Given the description of an element on the screen output the (x, y) to click on. 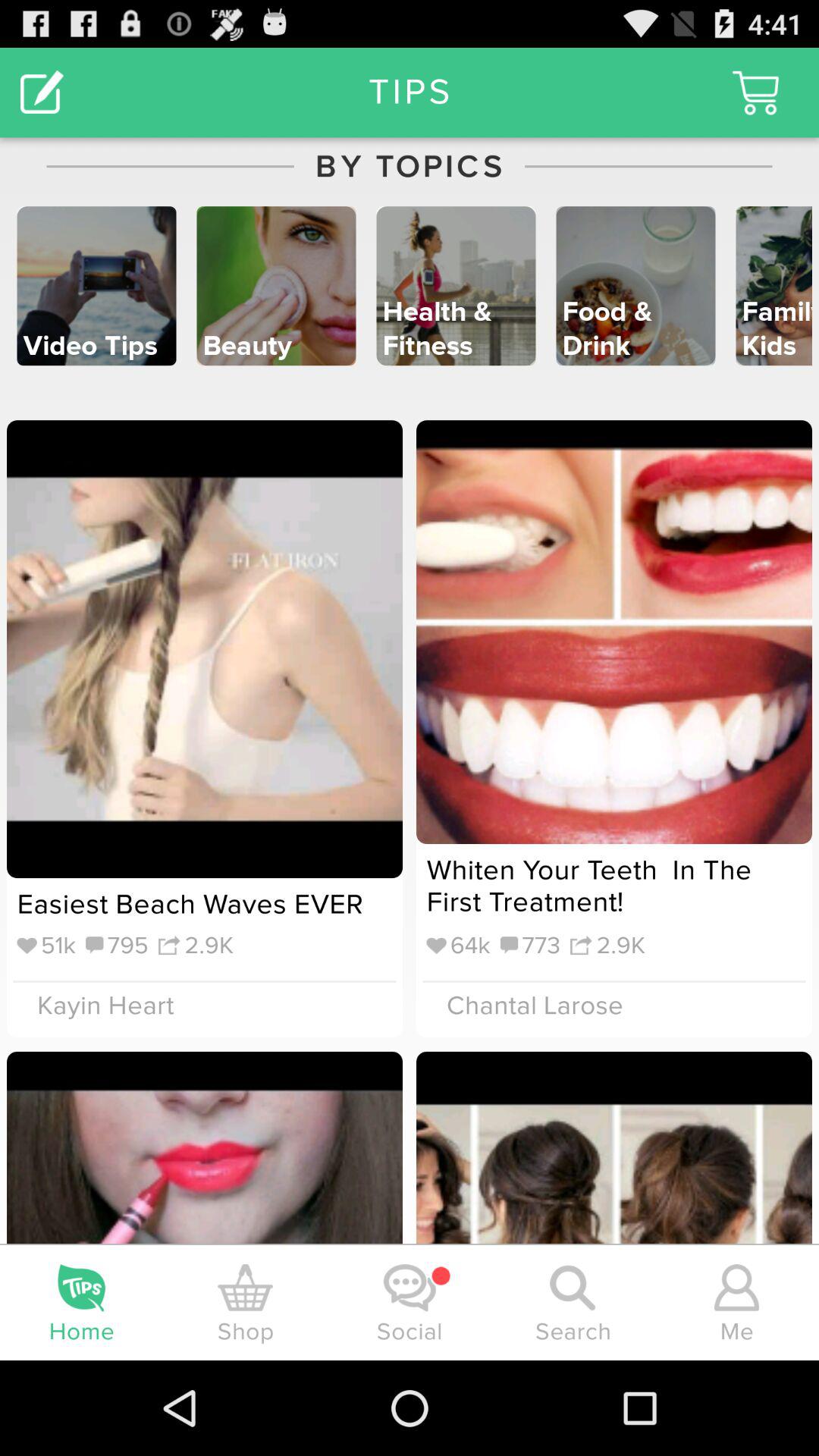
create post (42, 92)
